Given the description of an element on the screen output the (x, y) to click on. 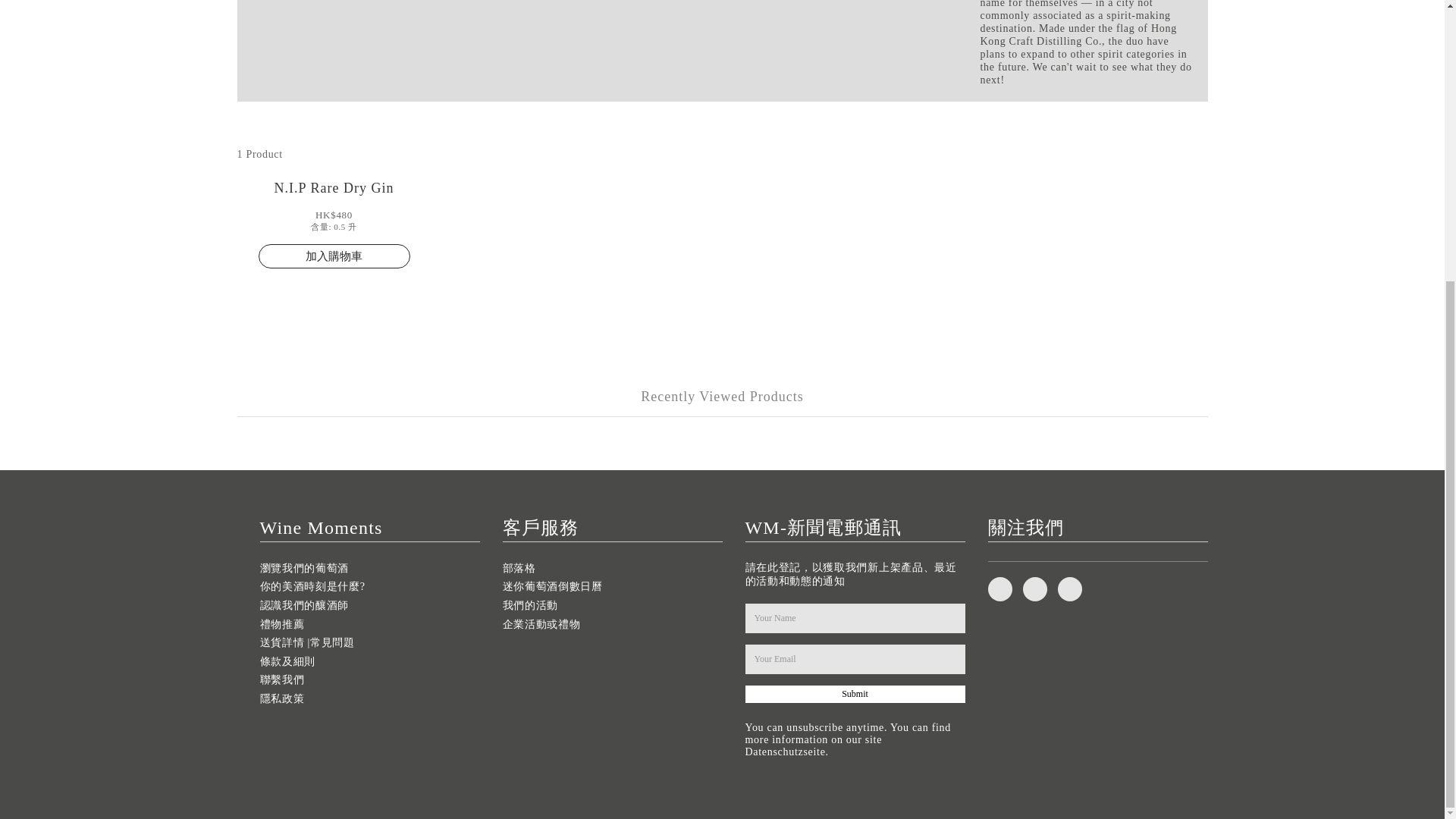
WINE MOMENTS on Facebook (999, 589)
WINE MOMENTS on Pinterest (1034, 589)
WINE MOMENTS on Instagram (1069, 589)
